Given the description of an element on the screen output the (x, y) to click on. 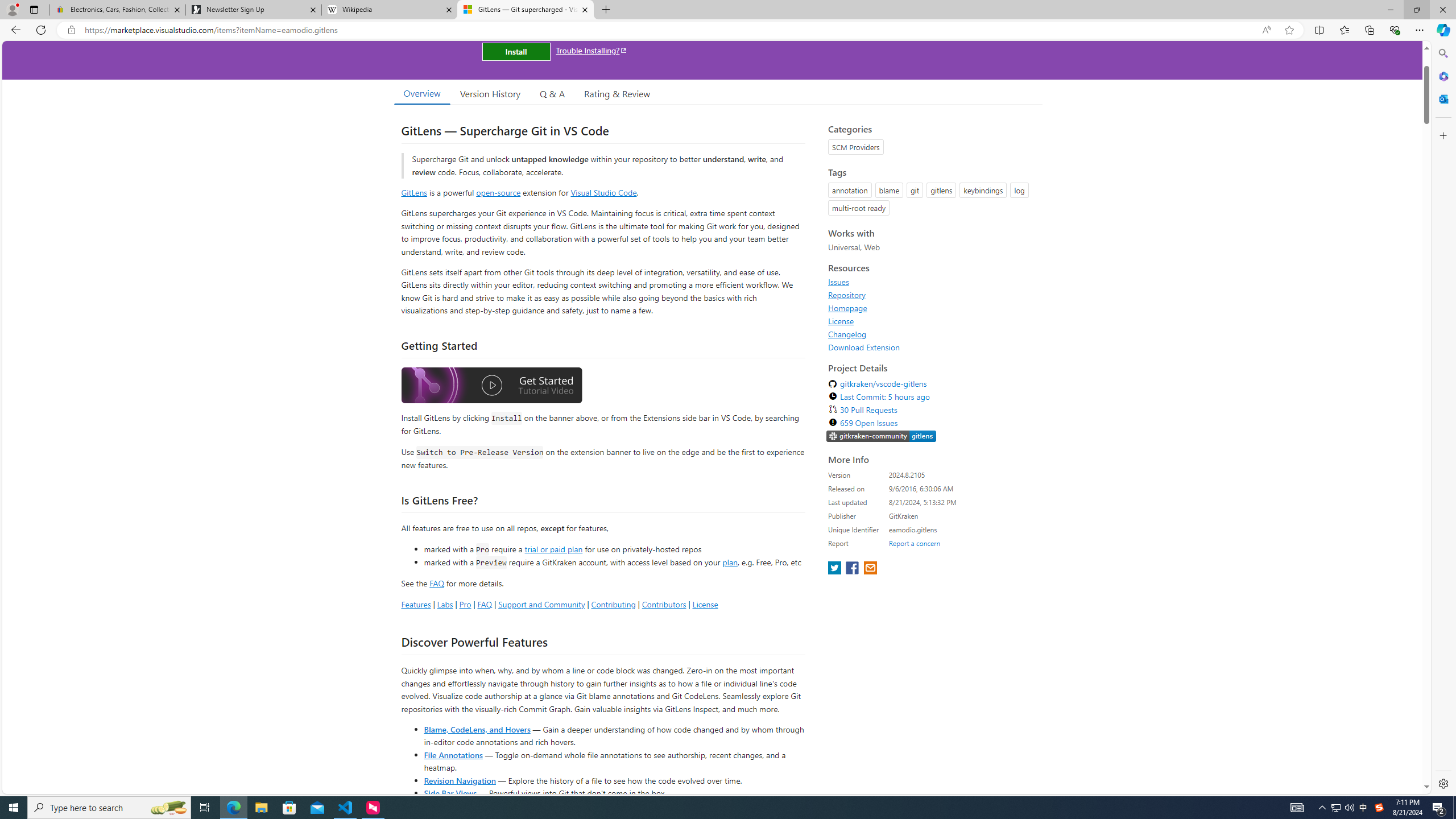
Blame, CodeLens, and Hovers (476, 728)
Features (415, 603)
Download Extension (863, 346)
Install (515, 51)
Overview (421, 92)
Issues (931, 281)
Outlook (1442, 98)
Support and Community (541, 603)
open-source (498, 192)
